Given the description of an element on the screen output the (x, y) to click on. 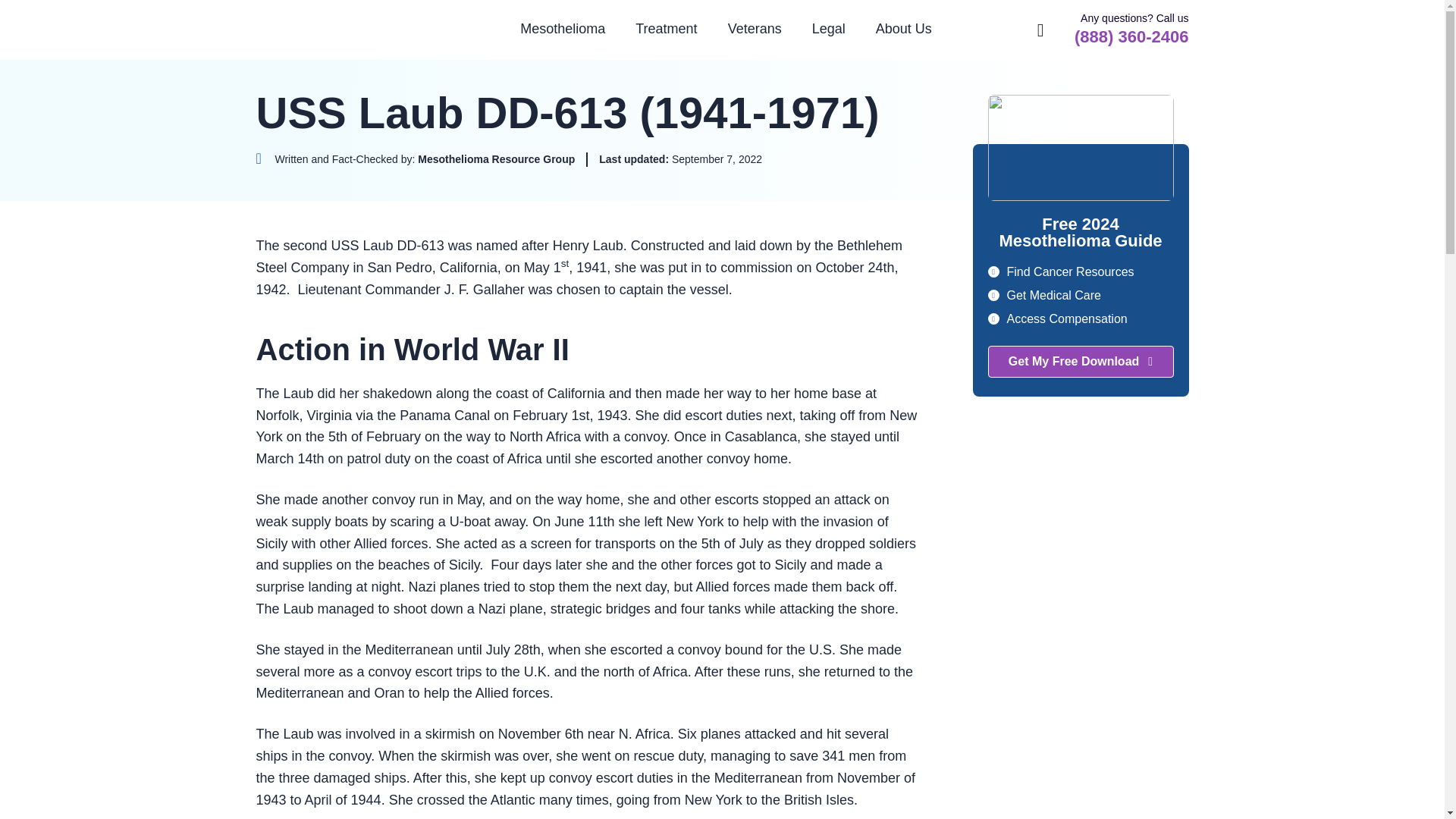
Treatment (665, 28)
Click to view Mesothelioma Resource Group (415, 159)
Mesothelioma Resource Group (339, 29)
Legal (828, 28)
Mesothelioma (562, 28)
About Us (903, 28)
Mesothelioma Resource Group (339, 29)
Veterans (754, 28)
Treatment (665, 28)
Mesothelioma (562, 28)
